Given the description of an element on the screen output the (x, y) to click on. 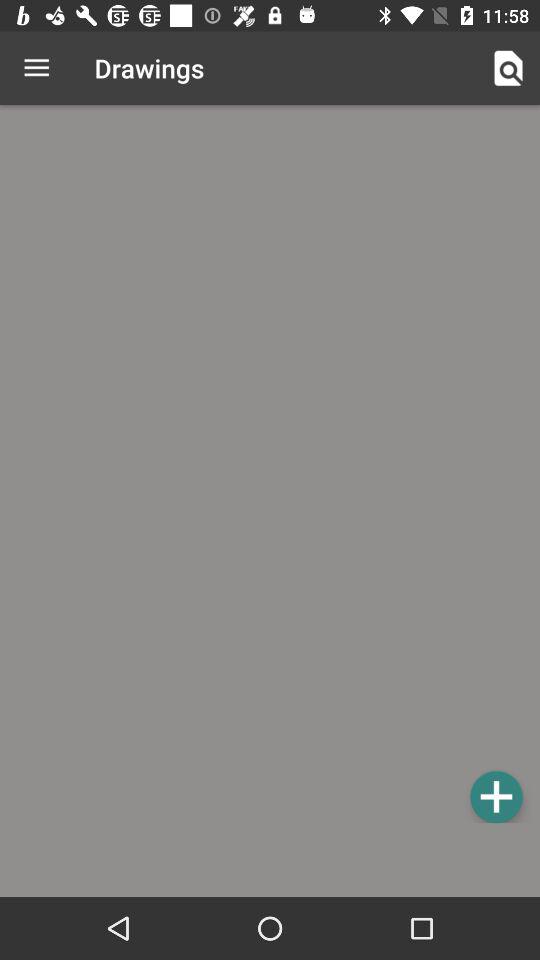
add drawings (496, 796)
